Given the description of an element on the screen output the (x, y) to click on. 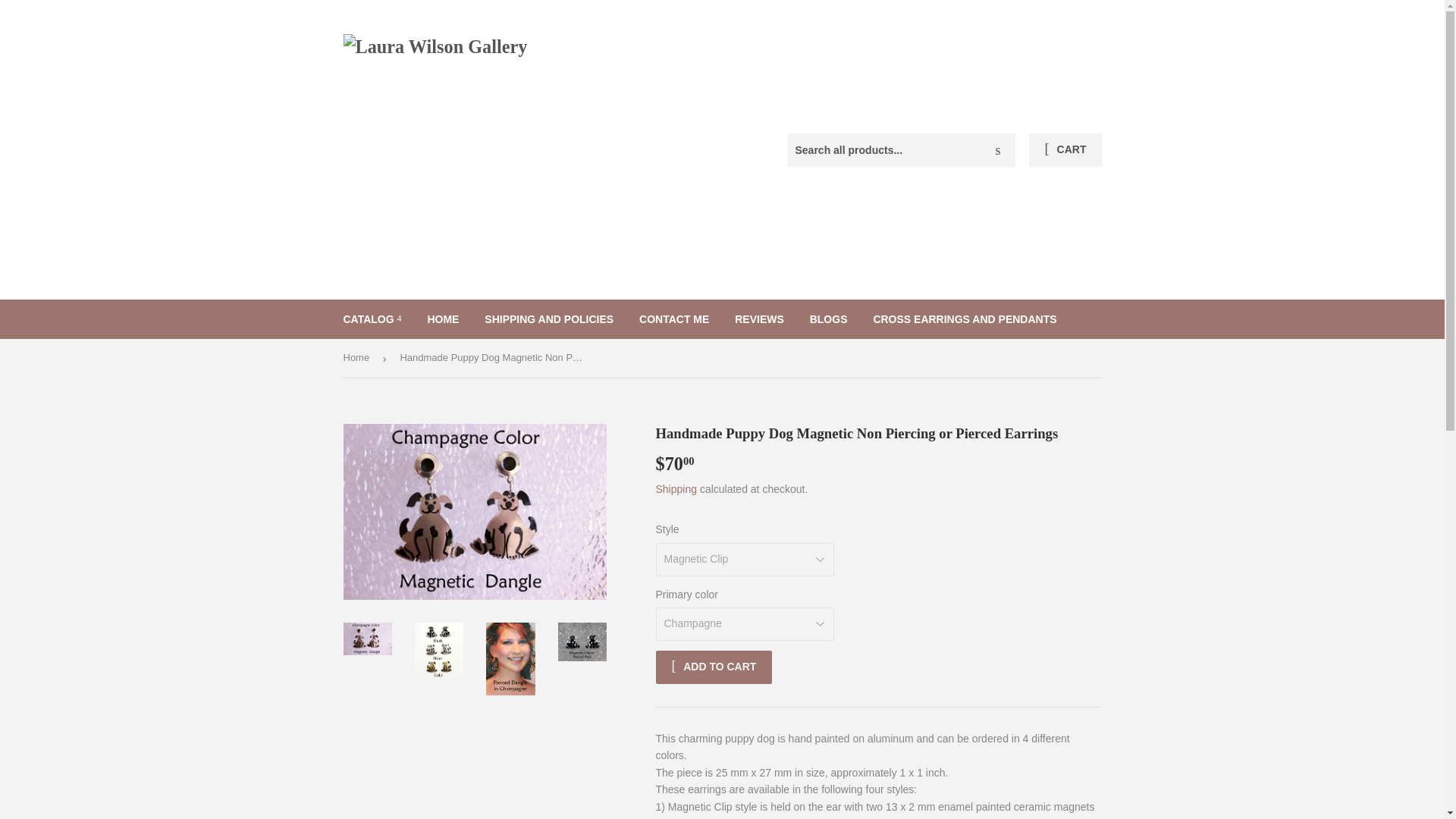
CATALOG (372, 319)
Search (997, 151)
CART (1064, 150)
